Given the description of an element on the screen output the (x, y) to click on. 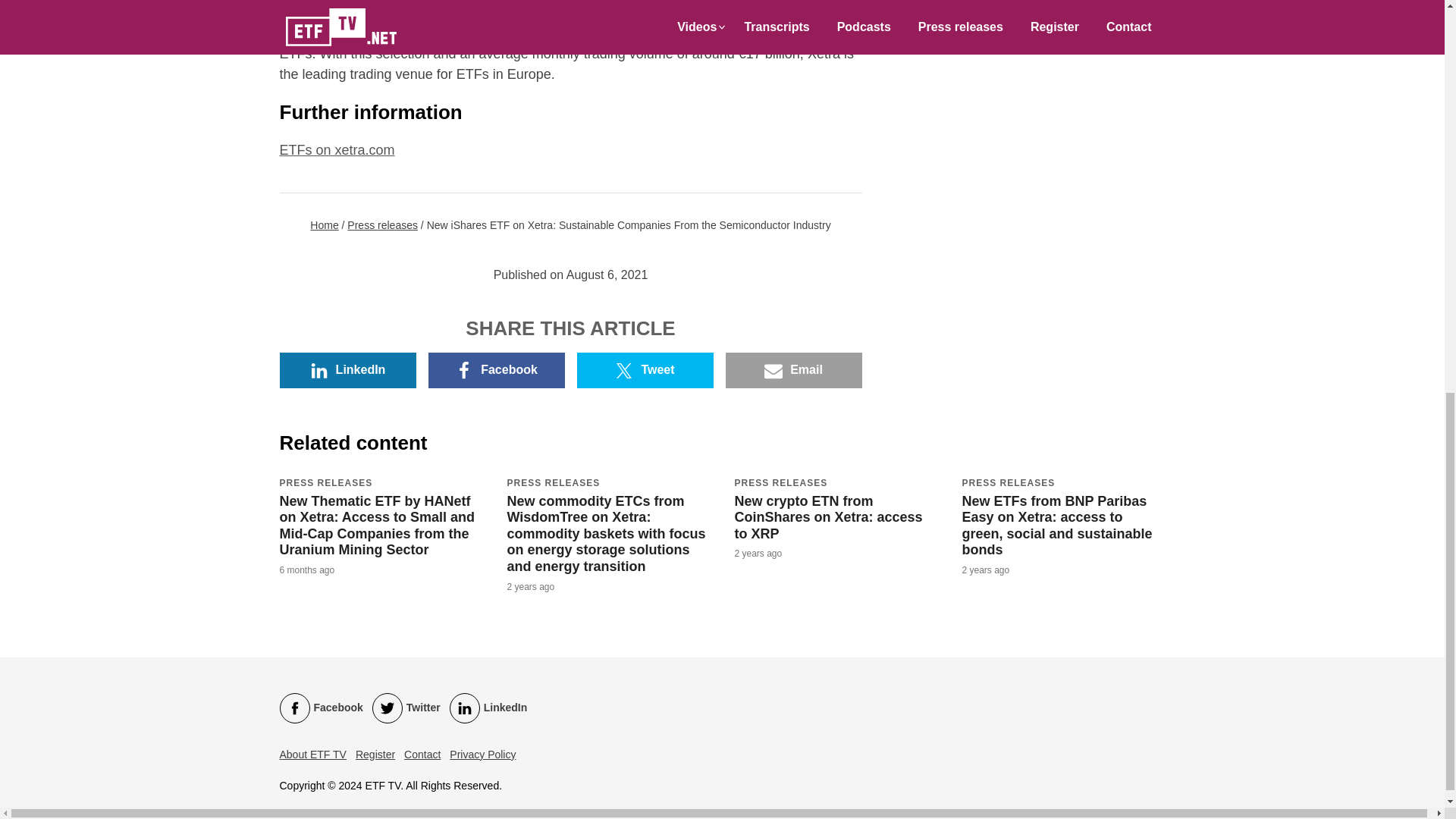
Home (323, 224)
Twitter (406, 707)
PRESS RELEASES (1007, 482)
LinkedIn (346, 370)
ETFs on xetra.com (336, 150)
Facebook (320, 707)
Share on Twitter (644, 370)
PRESS RELEASES (552, 482)
Facebook (496, 370)
